Given the description of an element on the screen output the (x, y) to click on. 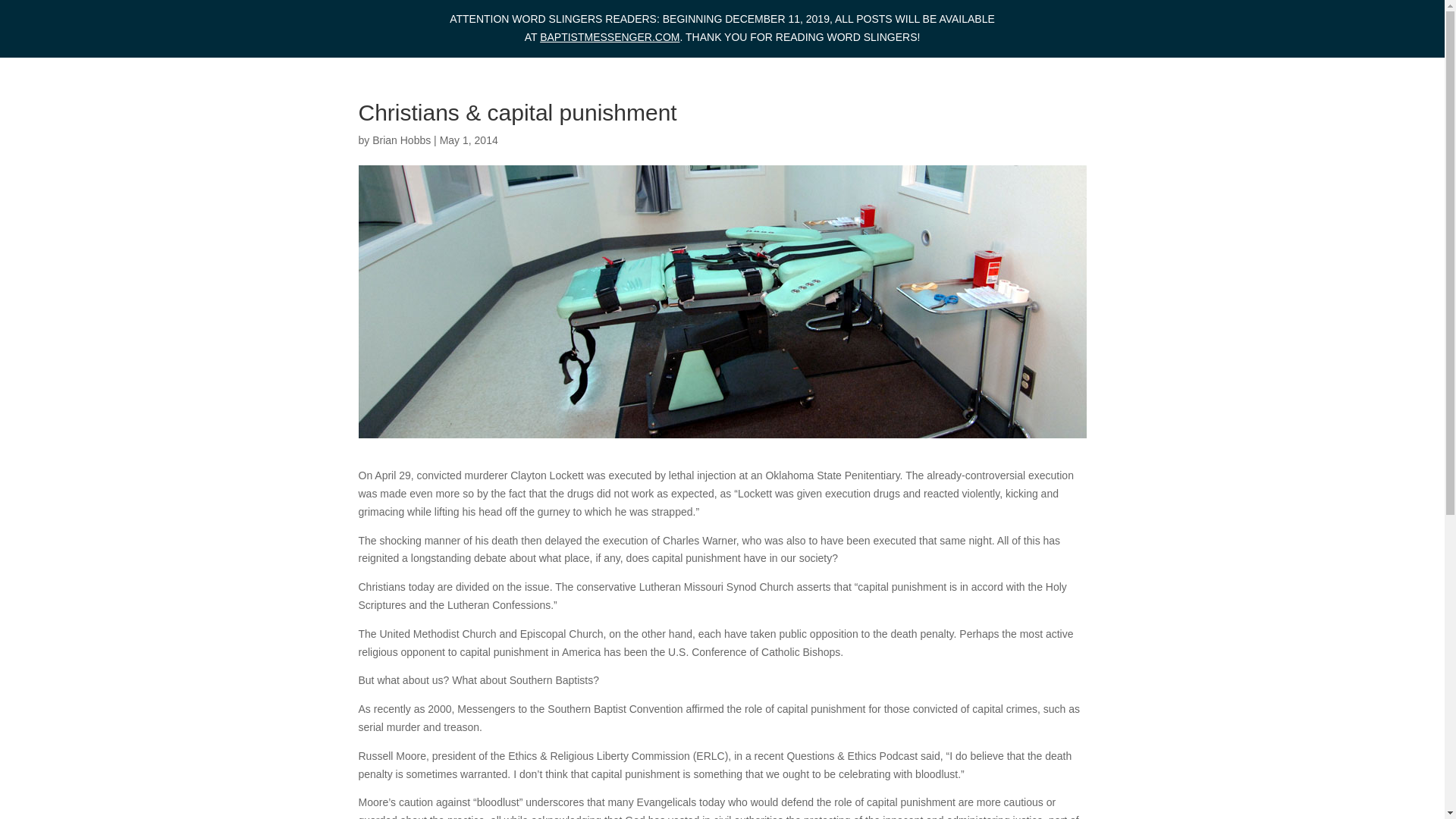
Brian Hobbs (401, 140)
Posts by Brian Hobbs (401, 140)
BAPTISTMESSENGER.COM (609, 37)
